Given the description of an element on the screen output the (x, y) to click on. 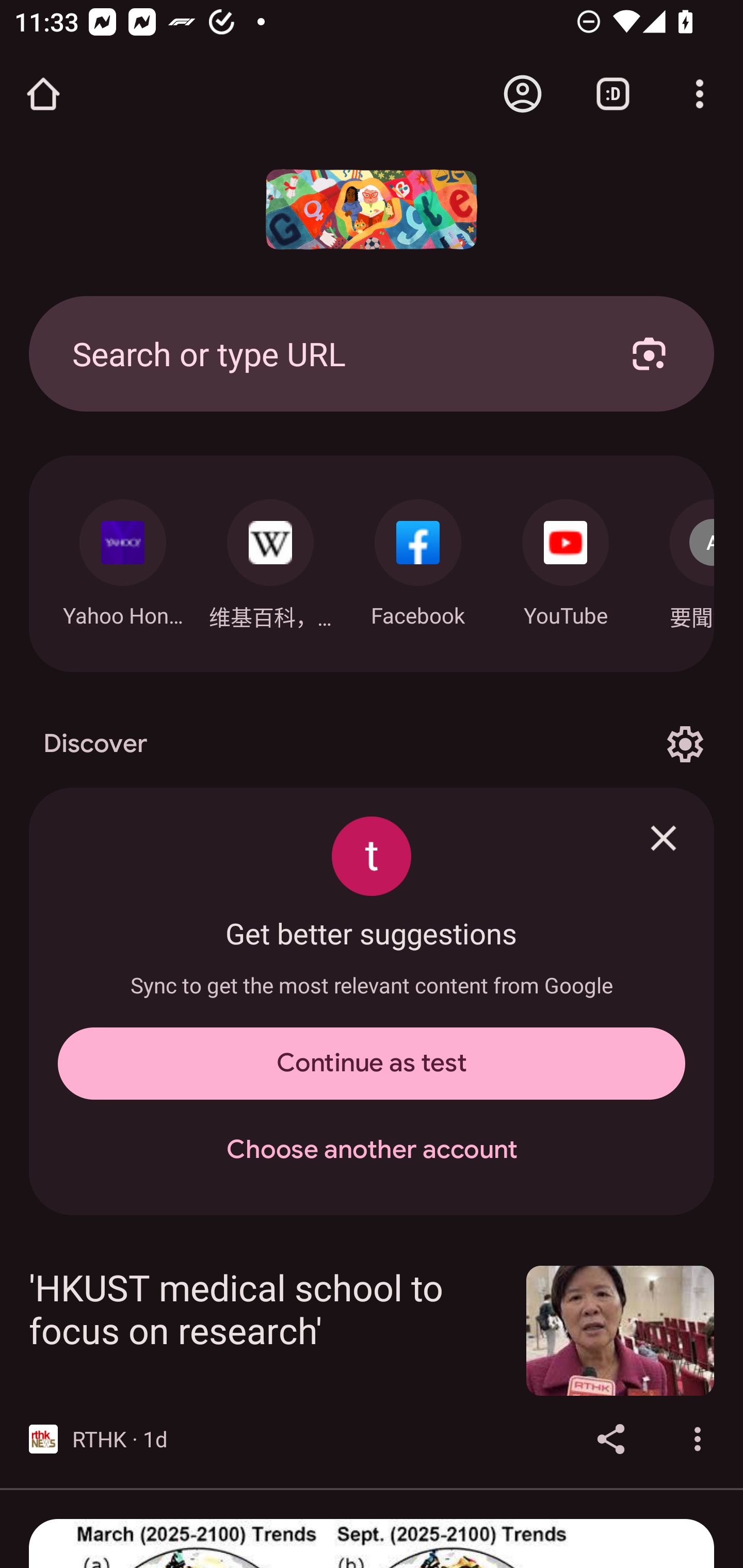
Open the home page (43, 93)
Switch or close tabs (612, 93)
Customize and control Google Chrome (699, 93)
Google doodle: 2024 年國際婦女節 (371, 209)
Search or type URL (327, 353)
Search with your camera using Google Lens (648, 353)
Navigate: Facebook: m.facebook.com Facebook (417, 558)
Navigate: YouTube: m.youtube.com YouTube (565, 558)
Options for Discover (684, 743)
Close (663, 837)
Continue as test (371, 1063)
Choose another account (371, 1150)
Share 'HKUST medical school to focus on research' (610, 1438)
